Given the description of an element on the screen output the (x, y) to click on. 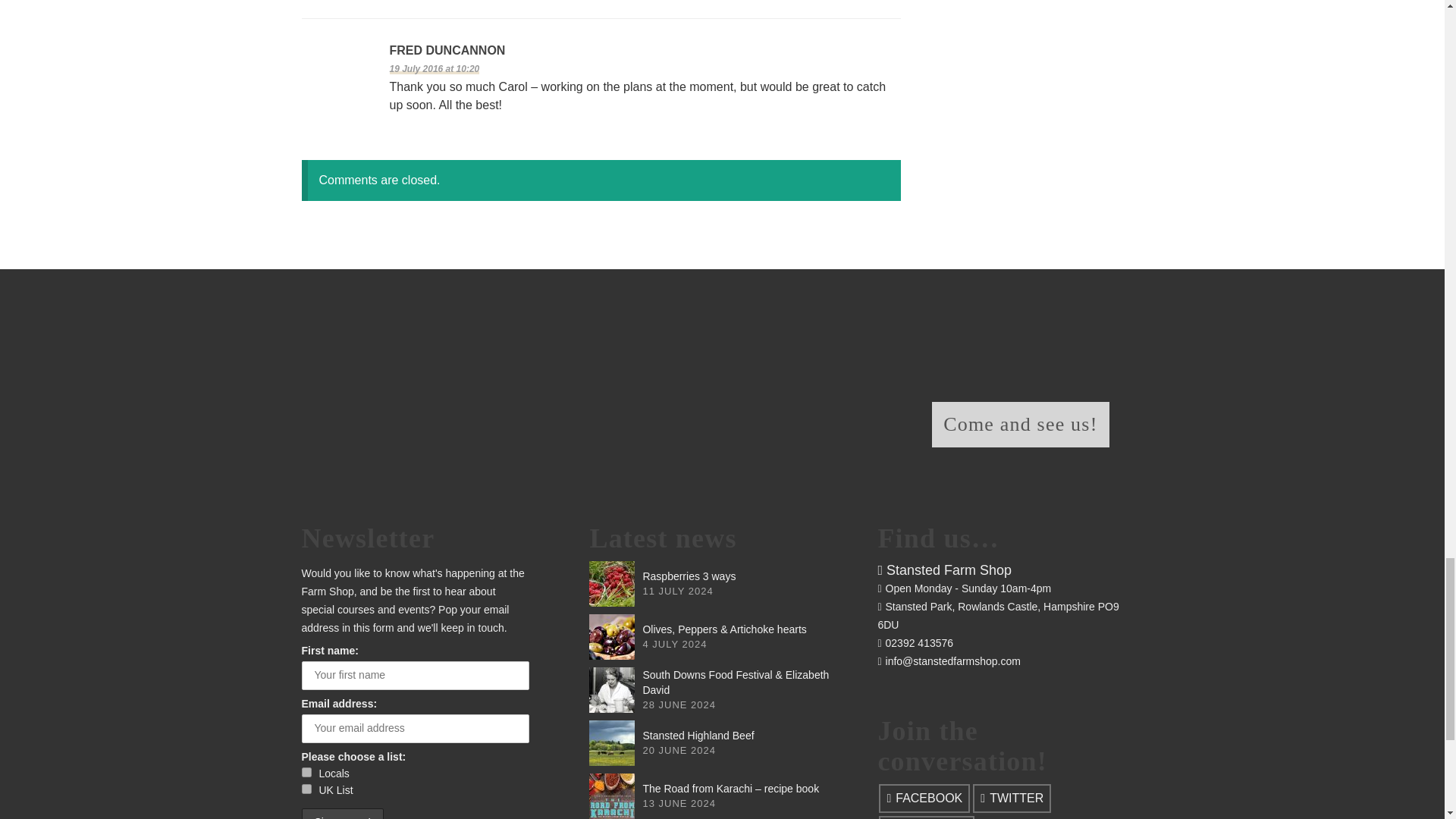
Stansted Highland Beef (611, 742)
Stansted Highland Beef (698, 735)
Raspberries 3 ways (611, 583)
2a23b8a181 (306, 772)
Sign me up! (342, 813)
Sign me up! (342, 813)
6731842508 (306, 788)
19 July 2016 at 10:20 (435, 68)
Raspberries 3 ways (688, 576)
